Given the description of an element on the screen output the (x, y) to click on. 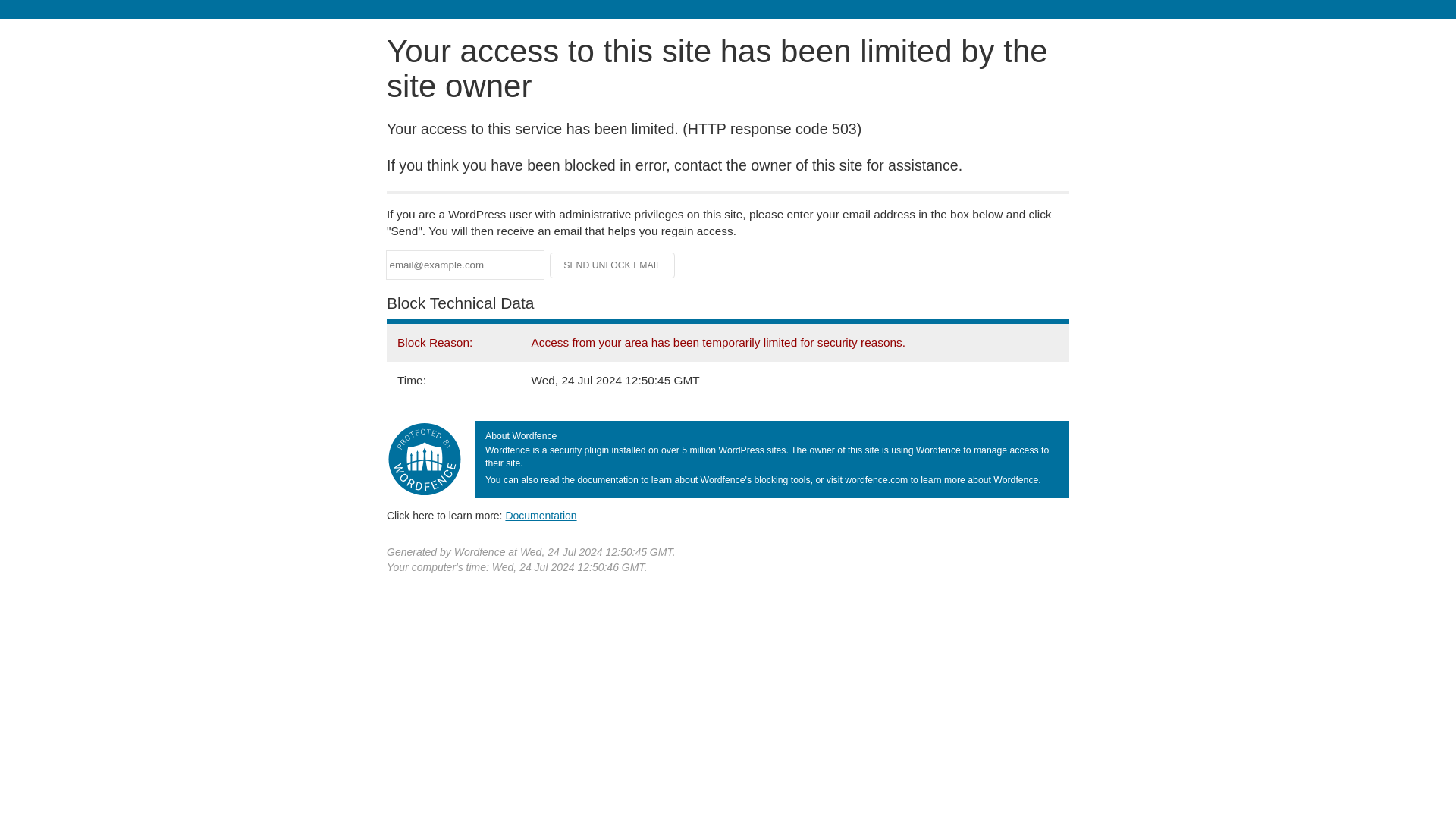
Send Unlock Email (612, 265)
Documentation (540, 515)
Send Unlock Email (612, 265)
